Given the description of an element on the screen output the (x, y) to click on. 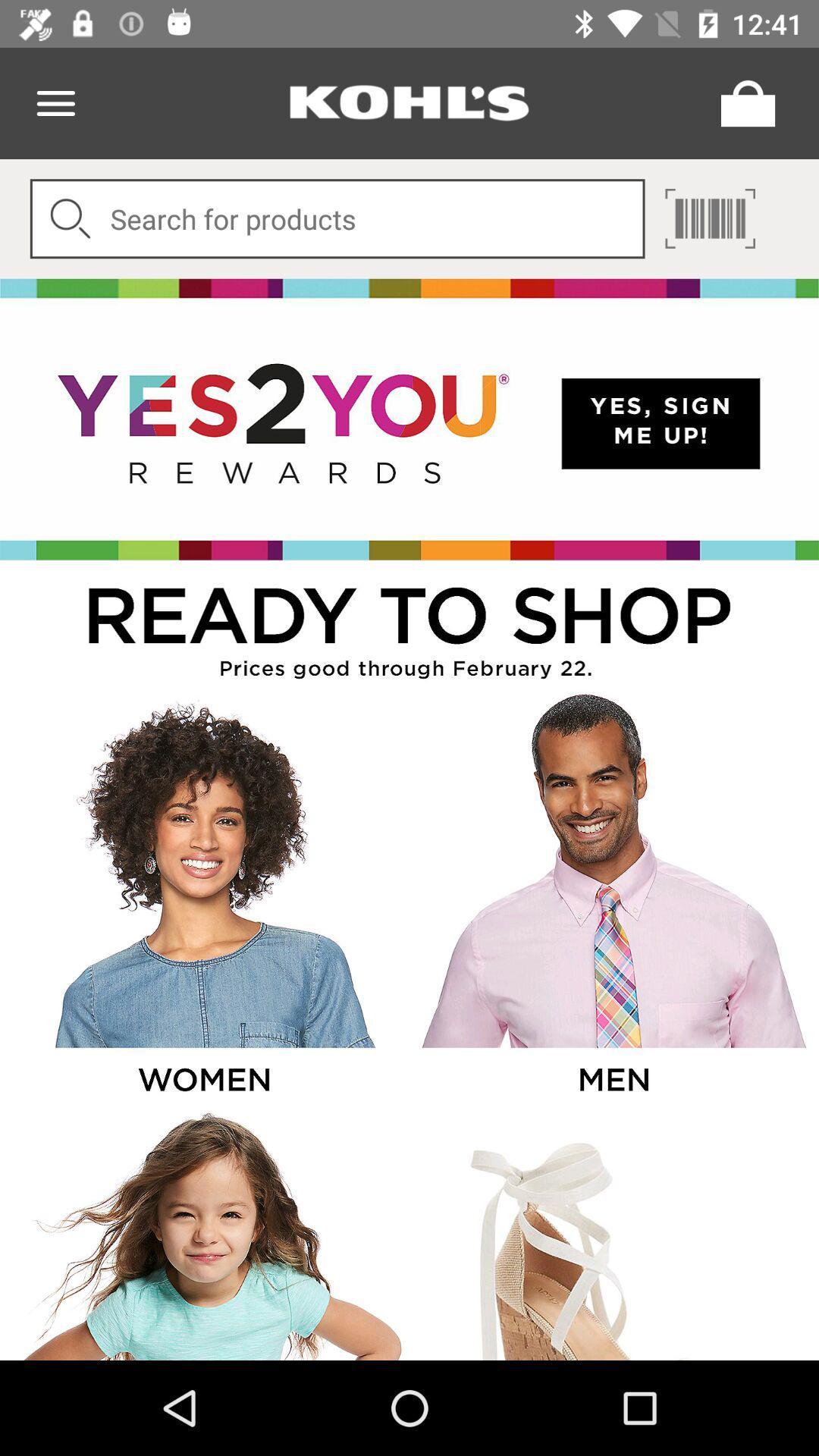
search through scanner (710, 218)
